Given the description of an element on the screen output the (x, y) to click on. 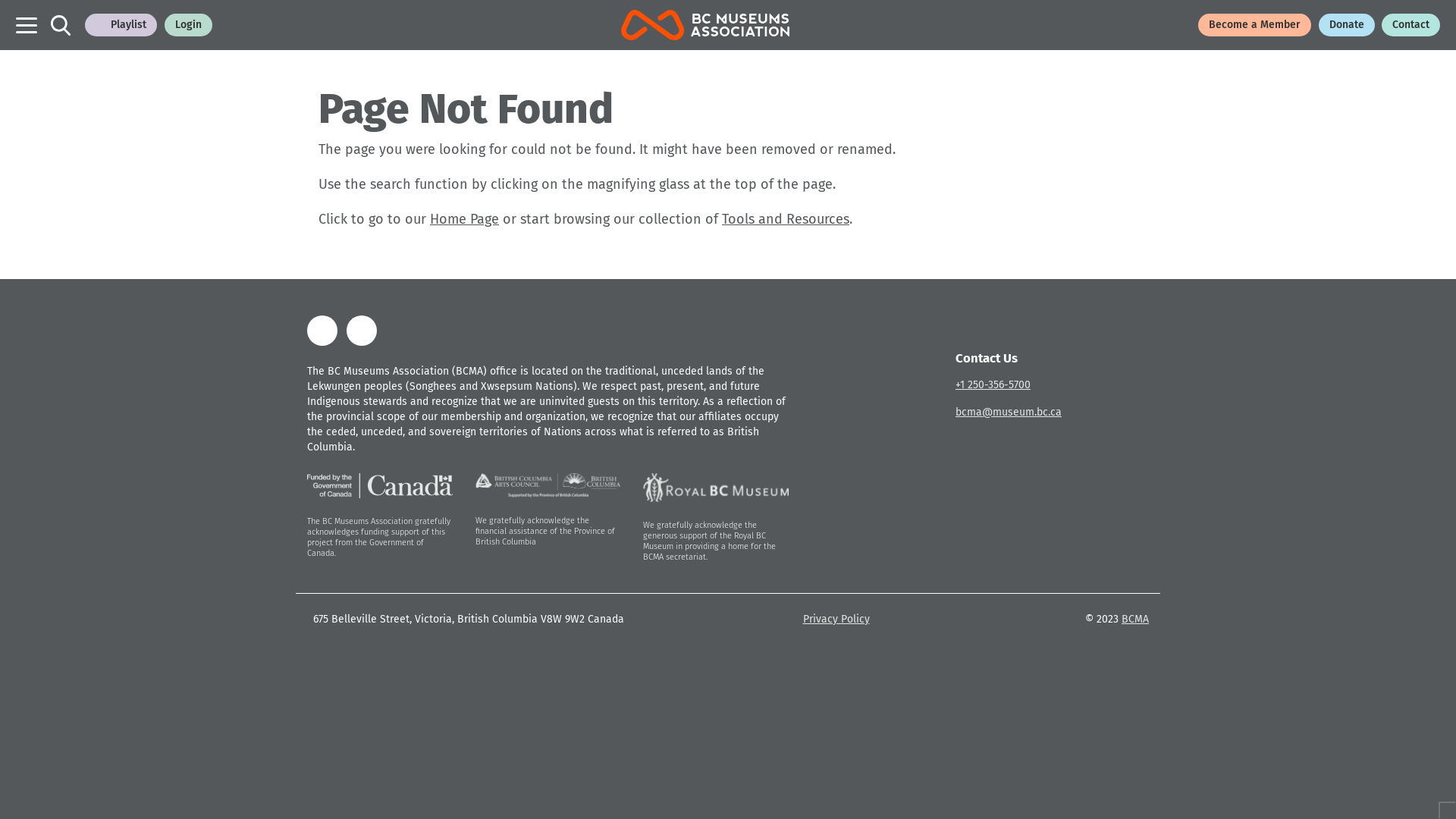
Instagram Element type: hover (361, 330)
Playlist Element type: text (120, 24)
Home Page Element type: text (463, 218)
bcma@museum.bc.ca Element type: text (1008, 411)
Donate Element type: text (1346, 24)
Login Element type: text (188, 24)
Tools and Resources Element type: text (785, 218)
Become a Member Element type: text (1254, 24)
Facebook Element type: hover (322, 330)
Contact Element type: text (1410, 24)
BCMA Element type: text (705, 24)
Privacy Policy Element type: text (835, 618)
+1 250-356-5700 Element type: text (992, 384)
BCMA Element type: text (1134, 618)
